Given the description of an element on the screen output the (x, y) to click on. 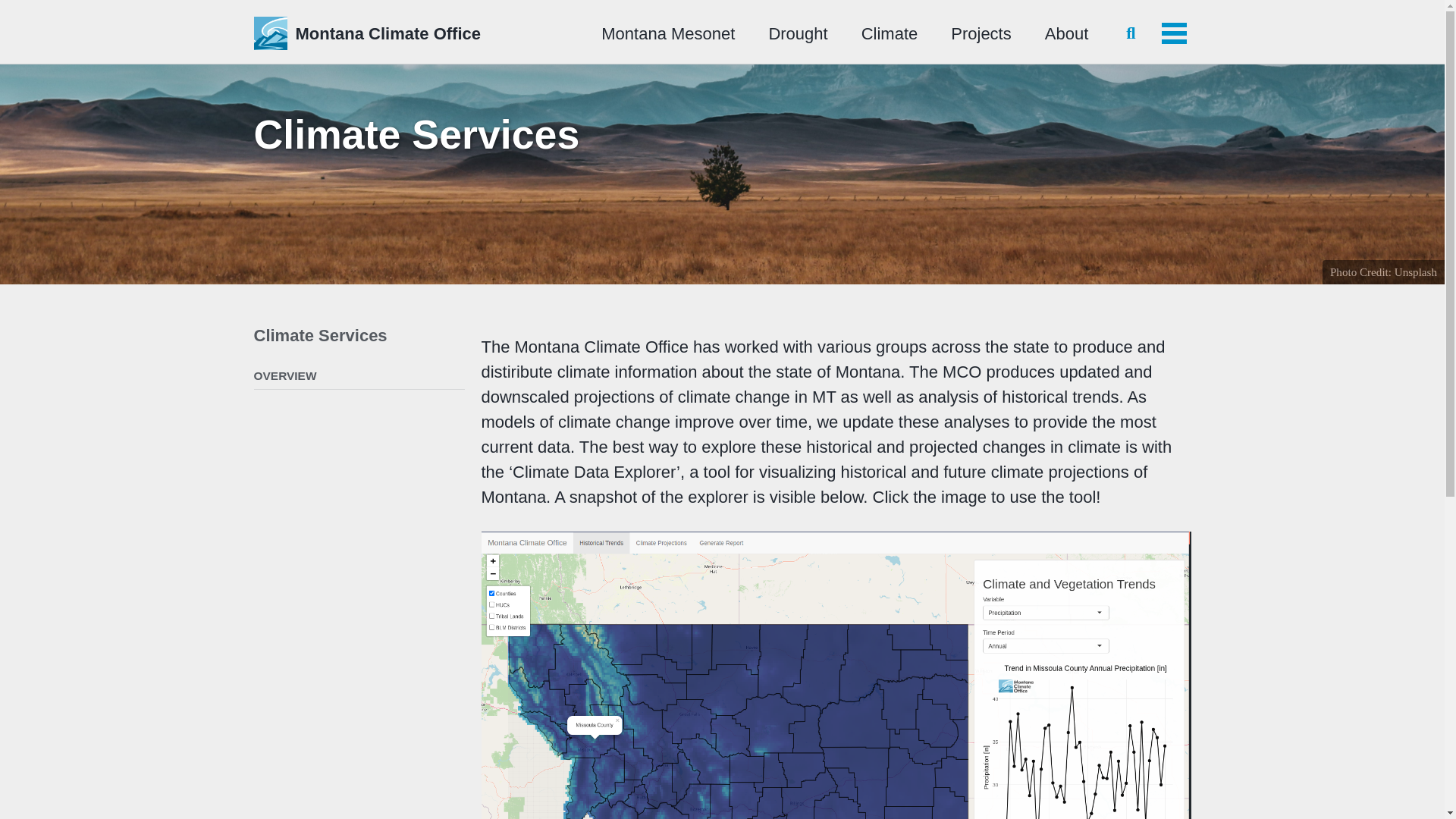
About (1067, 33)
Projects (980, 33)
Drought (797, 33)
Climate (889, 33)
OVERVIEW (358, 376)
Montana Climate Office (387, 33)
Toggle menu (1174, 32)
Montana Mesonet (668, 33)
